Given the description of an element on the screen output the (x, y) to click on. 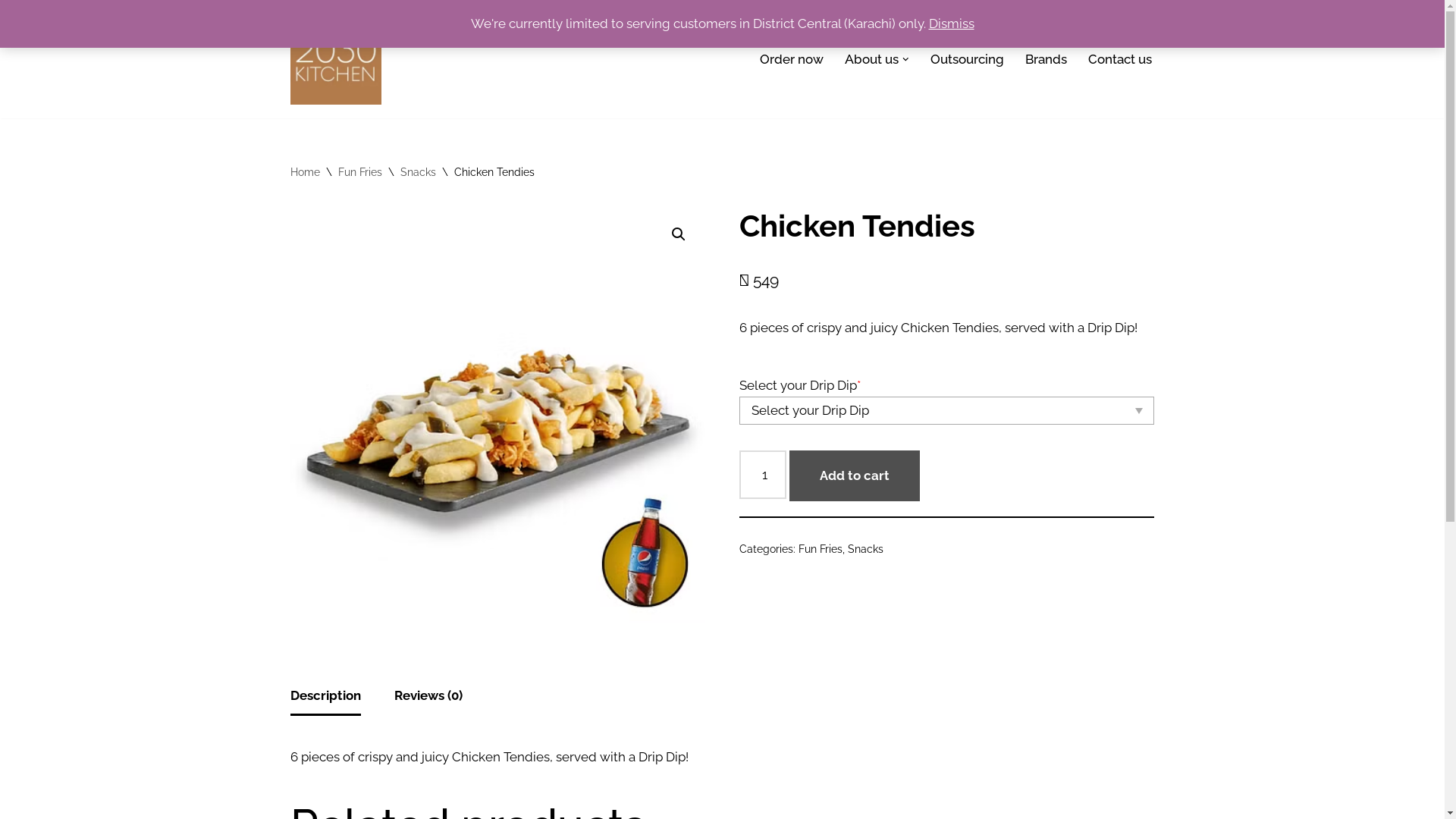
Home Element type: text (304, 172)
1 Element type: hover (496, 414)
Fun Fries Element type: text (360, 172)
Brands Element type: text (1045, 58)
Fun Fries Element type: text (820, 548)
Add to cart Element type: text (854, 475)
Description Element type: text (324, 695)
Snacks Element type: text (865, 548)
Order now Element type: text (791, 58)
Dismiss Element type: text (950, 23)
Skip to content Element type: text (11, 31)
About us Element type: text (871, 58)
Contact us Element type: text (1119, 58)
Snacks Element type: text (418, 172)
Outsourcing Element type: text (966, 58)
Reviews (0) Element type: text (428, 695)
